Given the description of an element on the screen output the (x, y) to click on. 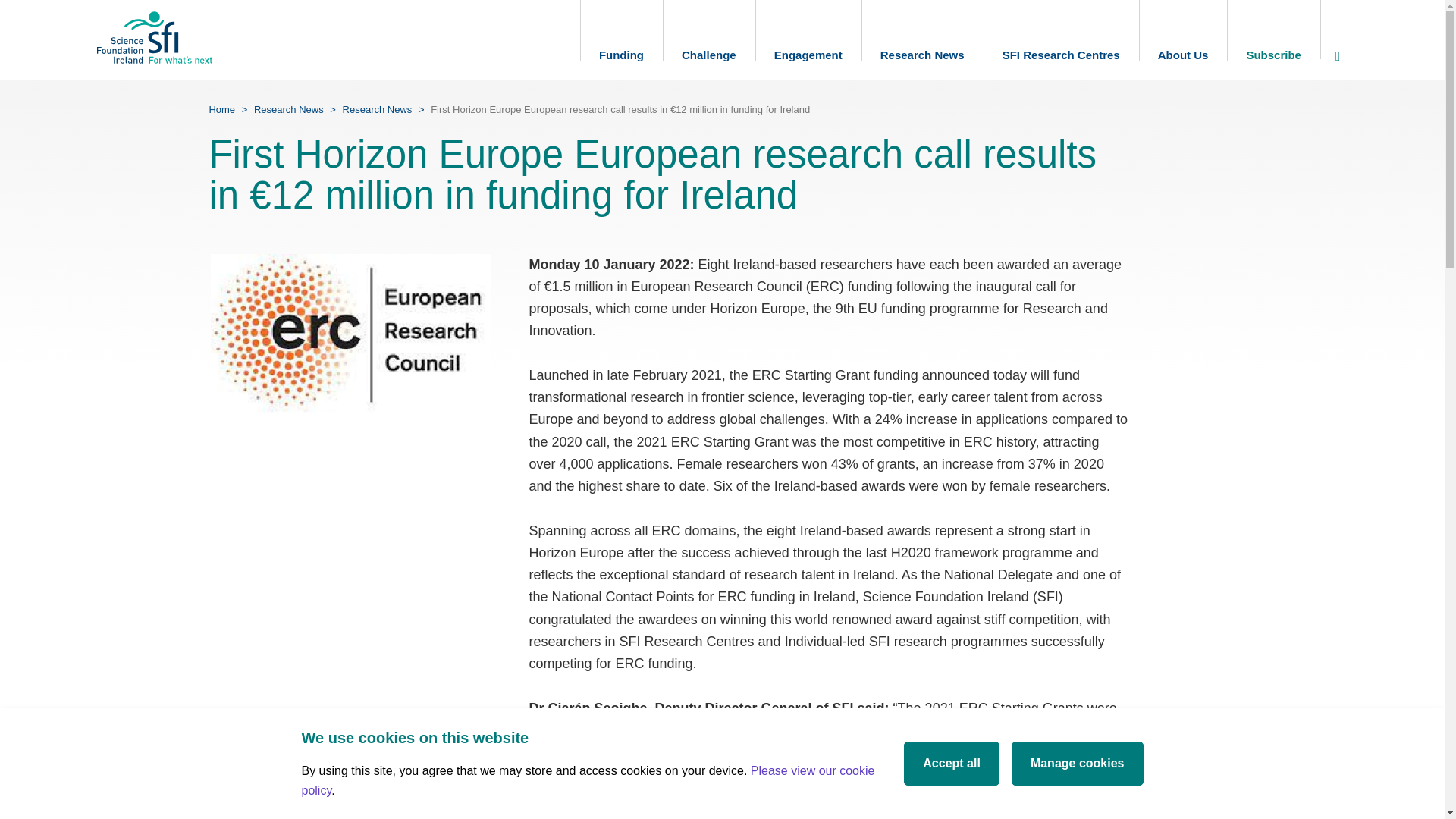
Engagement (808, 39)
Funding (620, 39)
Challenge (708, 39)
